Given the description of an element on the screen output the (x, y) to click on. 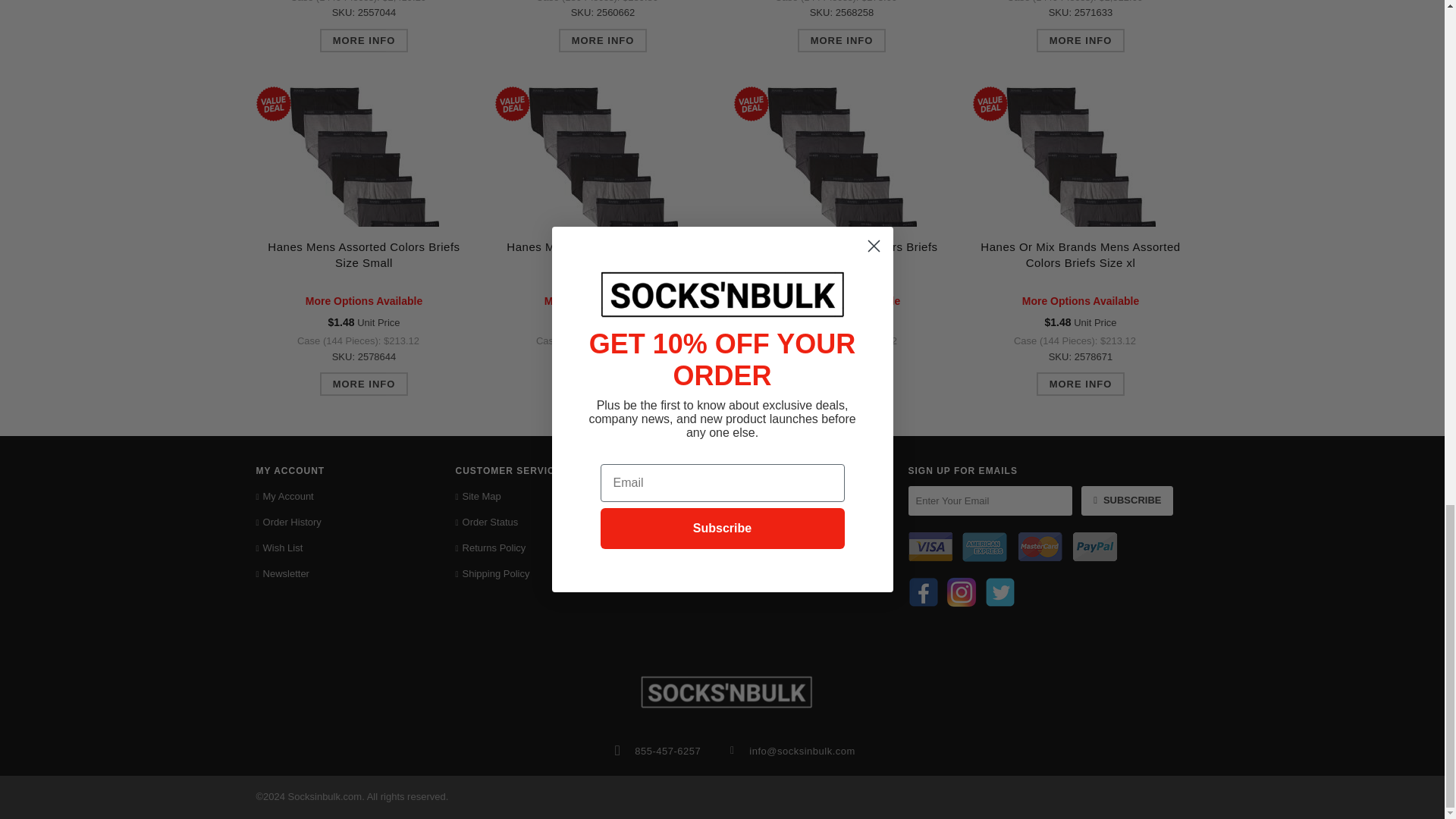
More Info (364, 40)
More Info (603, 40)
More Info (841, 40)
More Info (1080, 40)
